Given the description of an element on the screen output the (x, y) to click on. 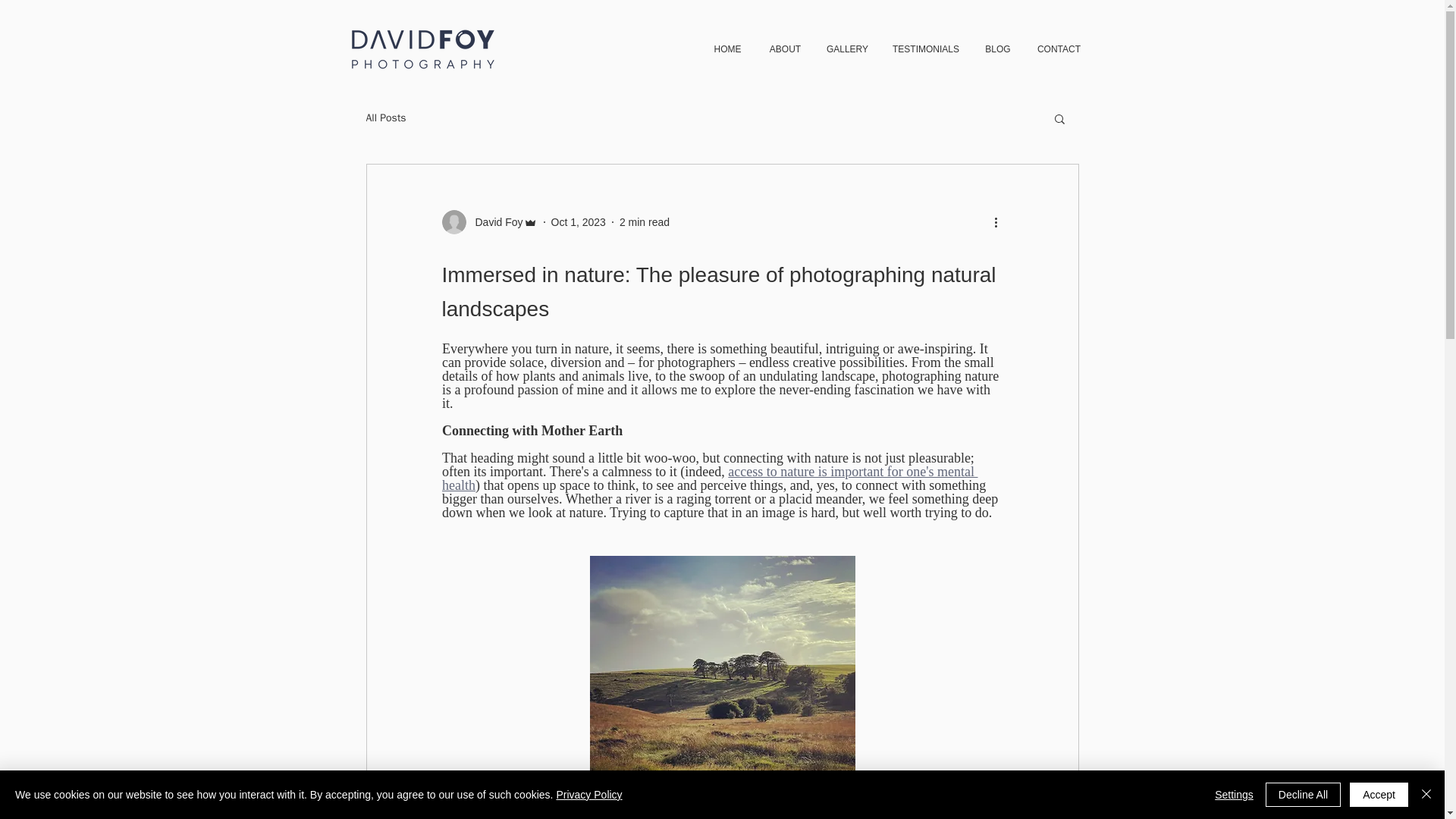
David Foy (489, 221)
All Posts (385, 118)
ABOUT (784, 48)
HOME (726, 48)
2 min read (644, 221)
Oct 1, 2023 (578, 221)
Privacy Policy (588, 794)
access to nature is important for one's mental health (708, 478)
David Foy (493, 221)
BLOG (998, 48)
CONTACT (1058, 48)
GALLERY (846, 48)
Accept (1378, 794)
TESTIMONIALS (925, 48)
